Given the description of an element on the screen output the (x, y) to click on. 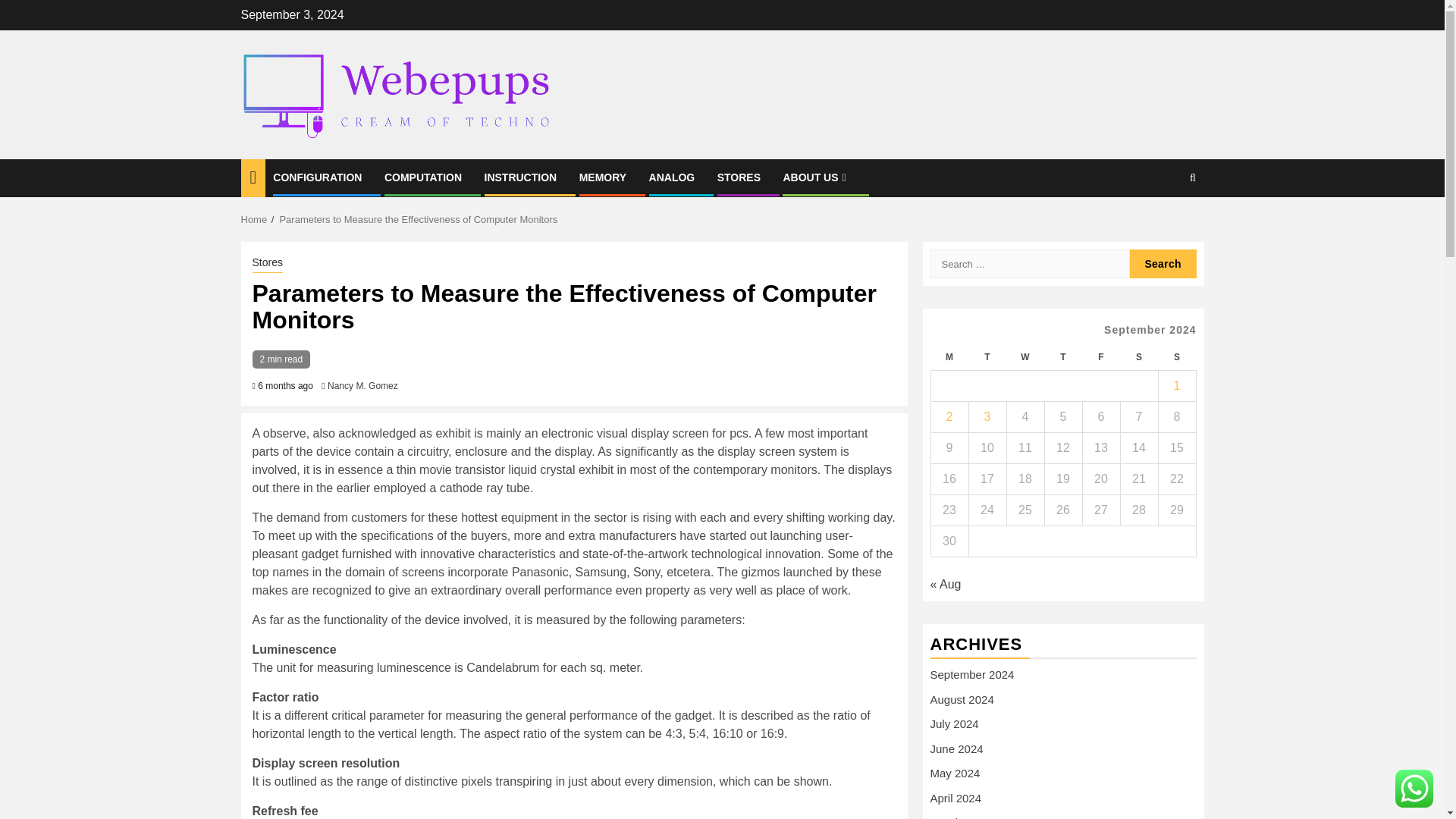
Home (254, 219)
CONFIGURATION (317, 177)
Stores (266, 263)
Search (1162, 263)
Thursday (1062, 357)
Monday (949, 357)
COMPUTATION (422, 177)
STORES (738, 177)
MEMORY (602, 177)
Parameters to Measure the Effectiveness of Computer Monitors (418, 219)
